Given the description of an element on the screen output the (x, y) to click on. 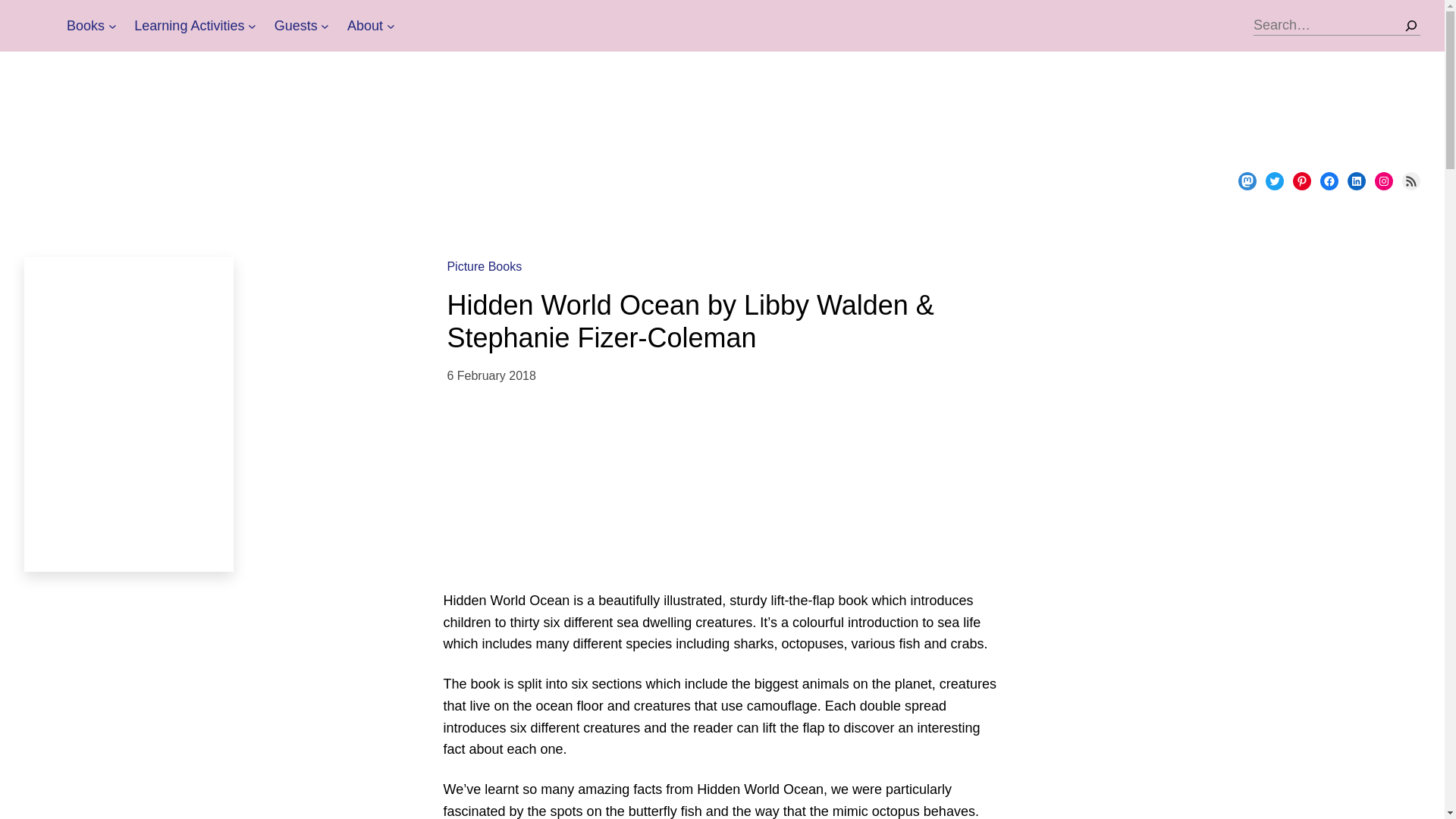
About (364, 25)
Guests (296, 25)
Books (85, 25)
Mastodon (1247, 180)
Facebook (1329, 180)
RSS Feed (1411, 180)
Picture Books (483, 266)
Learning Activities (188, 25)
Twitter (1274, 180)
Instagram (1383, 180)
